Given the description of an element on the screen output the (x, y) to click on. 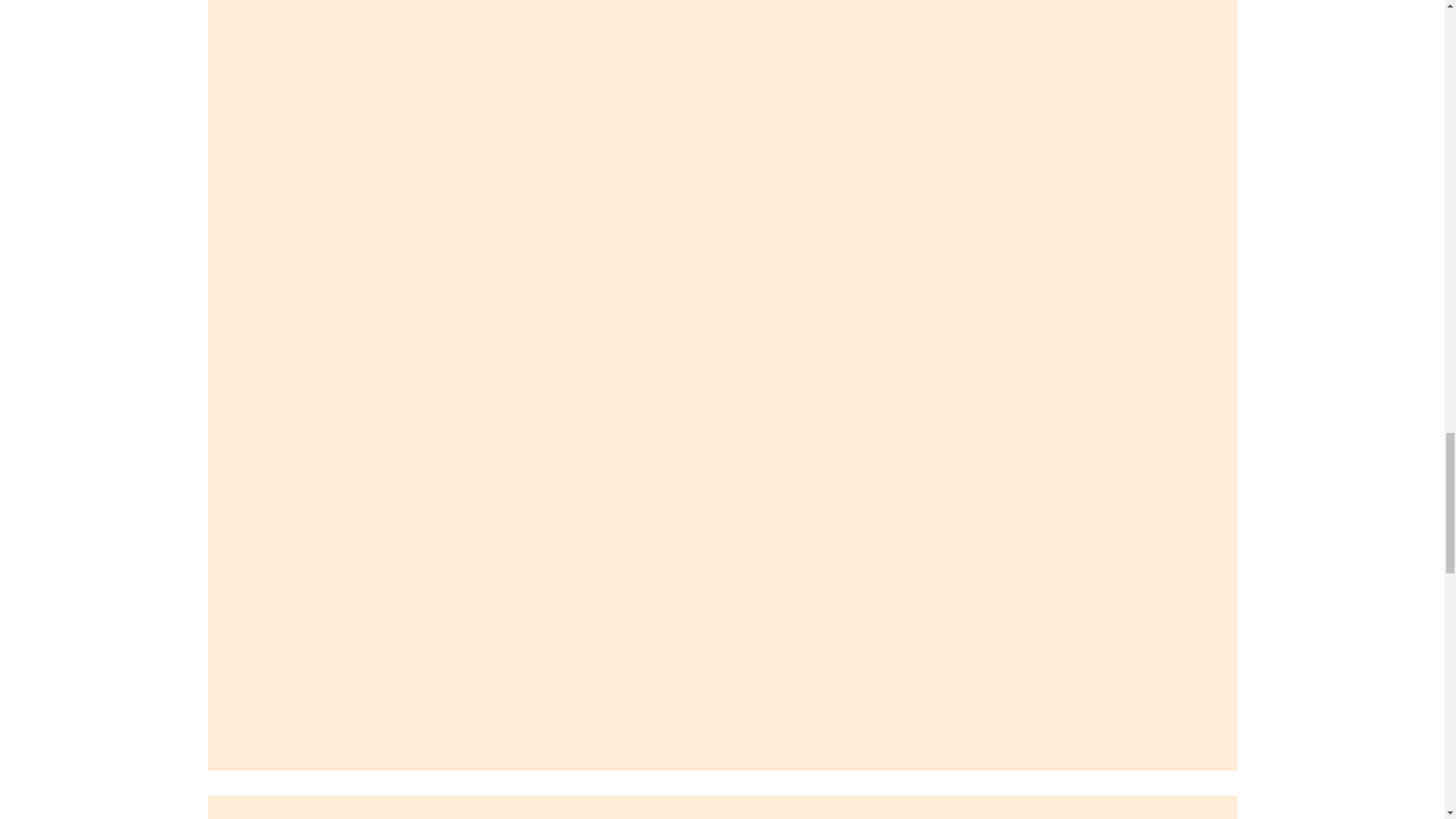
Request (233, 788)
